Given the description of an element on the screen output the (x, y) to click on. 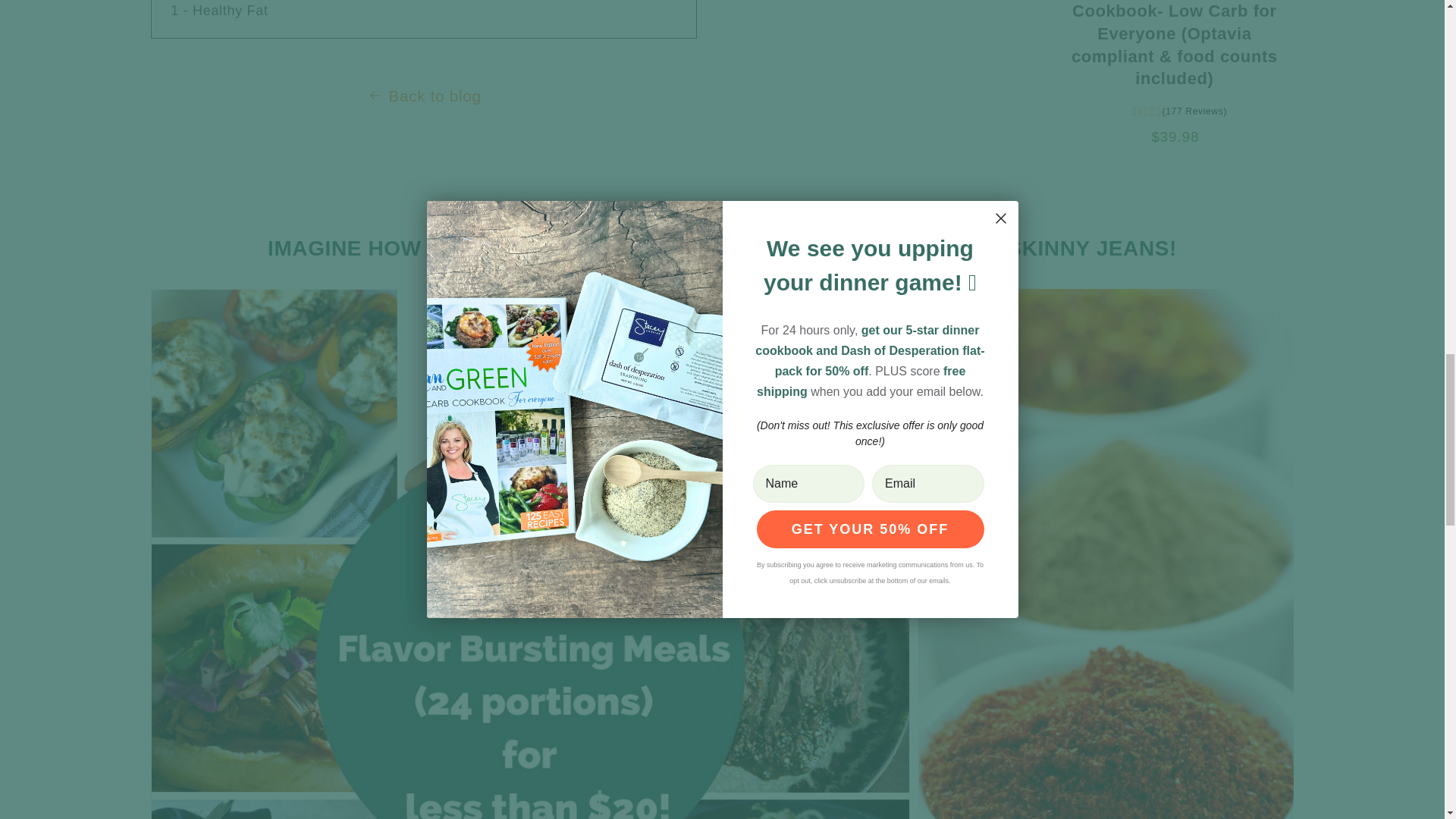
4.73 Stars - 177 Reviews (1179, 111)
